Given the description of an element on the screen output the (x, y) to click on. 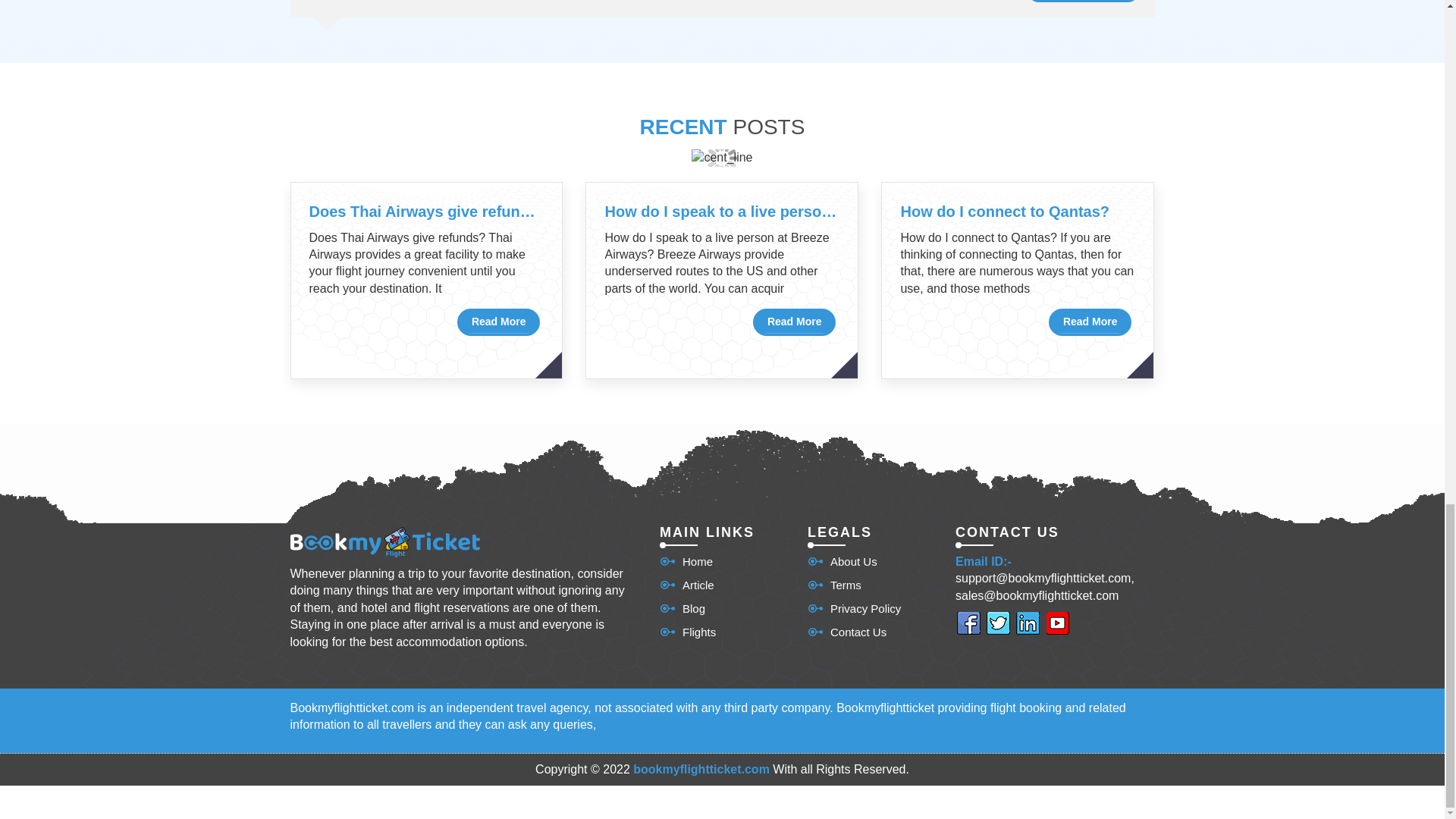
Home (686, 561)
Read More (793, 321)
Contact Us (847, 631)
Read More (498, 321)
Terms (834, 584)
bookmyflightticket.com (701, 768)
About Us (842, 561)
Article (686, 584)
Read More (1090, 321)
Flights (687, 631)
Blog (681, 608)
Privacy Policy (854, 608)
